Given the description of an element on the screen output the (x, y) to click on. 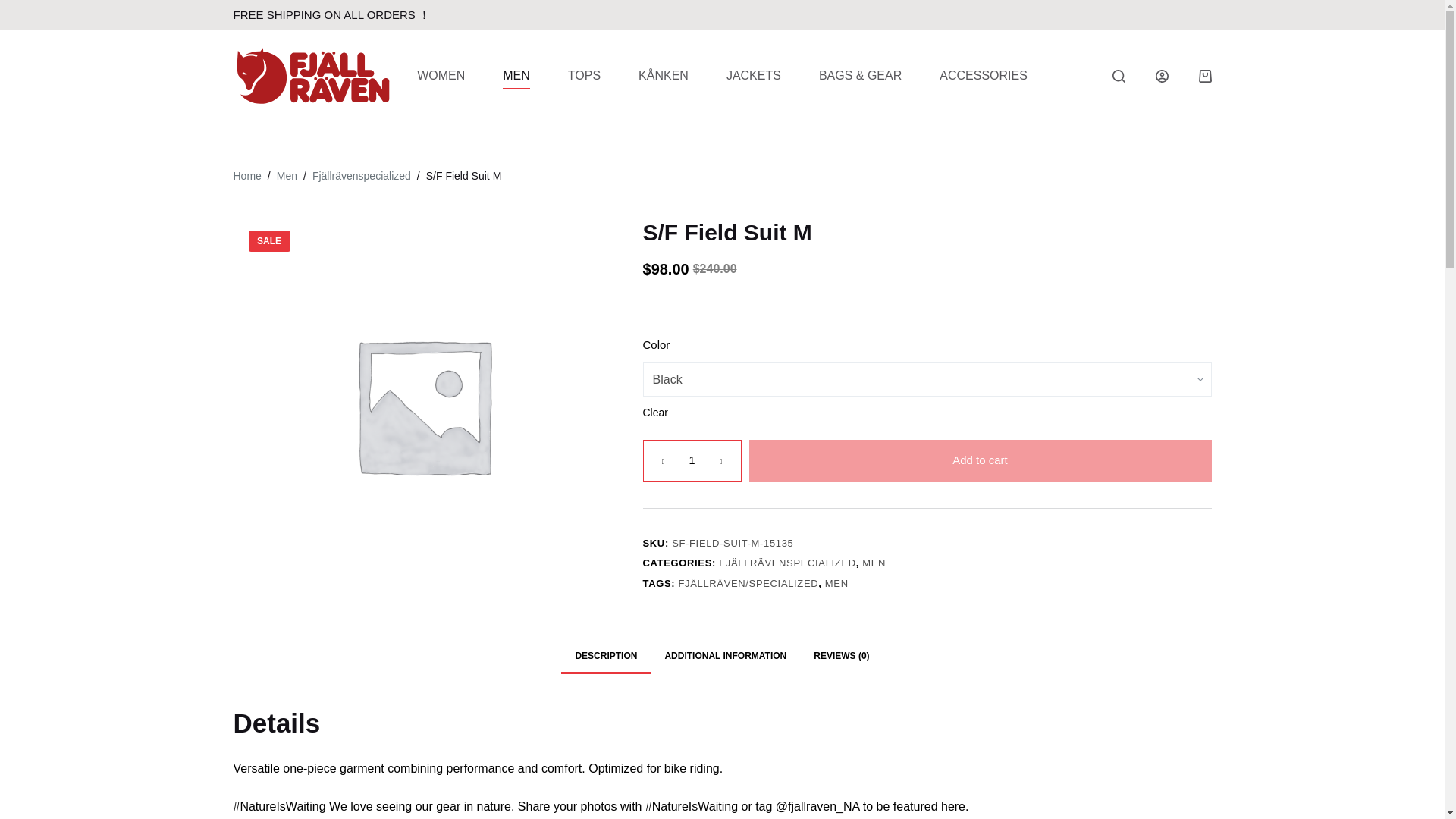
Shopping cart (1204, 75)
Skip to content (15, 7)
WOMEN (440, 75)
MEN (515, 75)
Clear (655, 412)
JACKETS (753, 75)
Home (247, 176)
TOPS (584, 75)
1 (692, 460)
ACCESSORIES (983, 75)
